Given the description of an element on the screen output the (x, y) to click on. 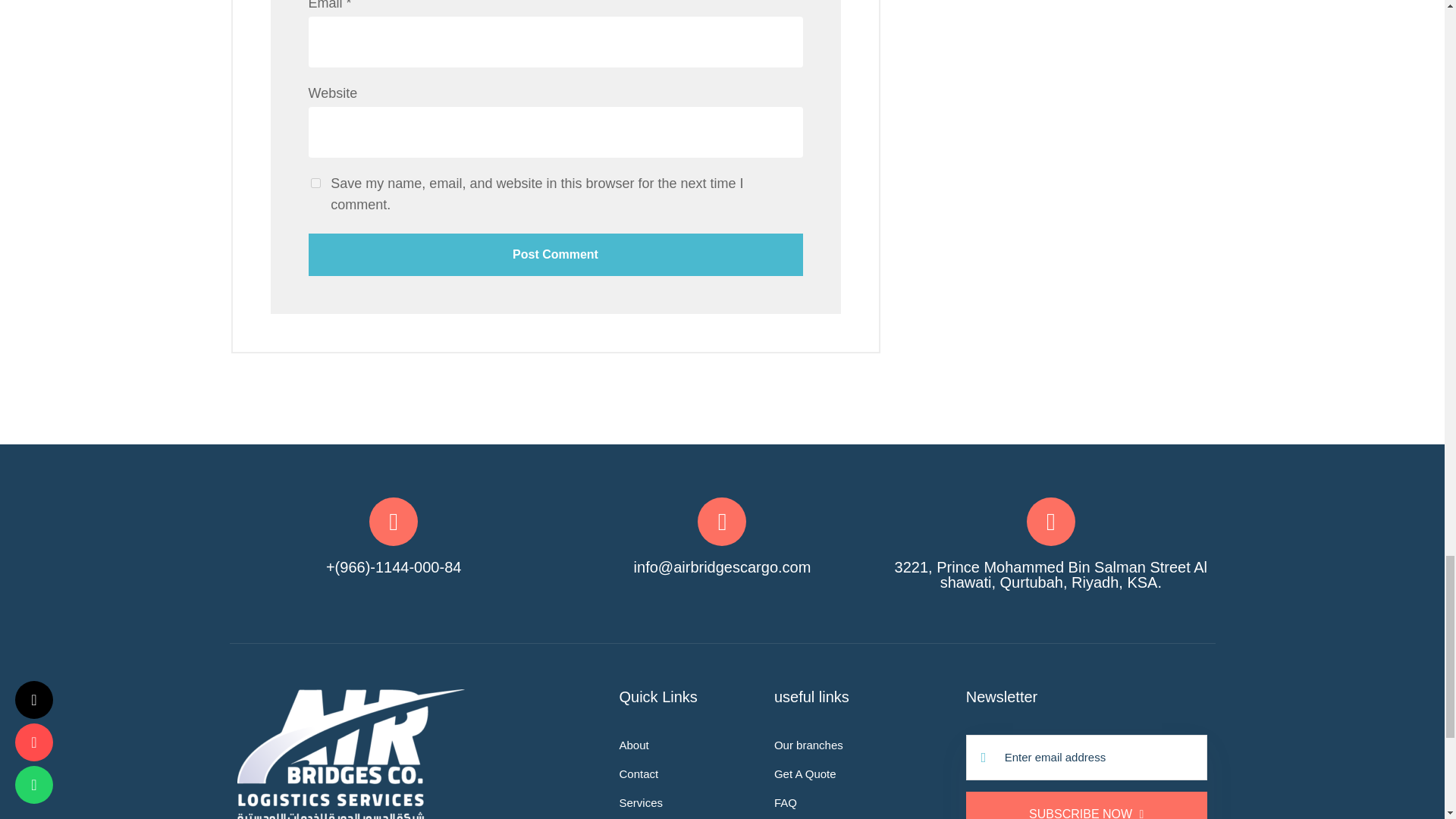
Post Comment (554, 254)
yes (315, 183)
Enter email address (1086, 757)
Post Comment (554, 254)
